Given the description of an element on the screen output the (x, y) to click on. 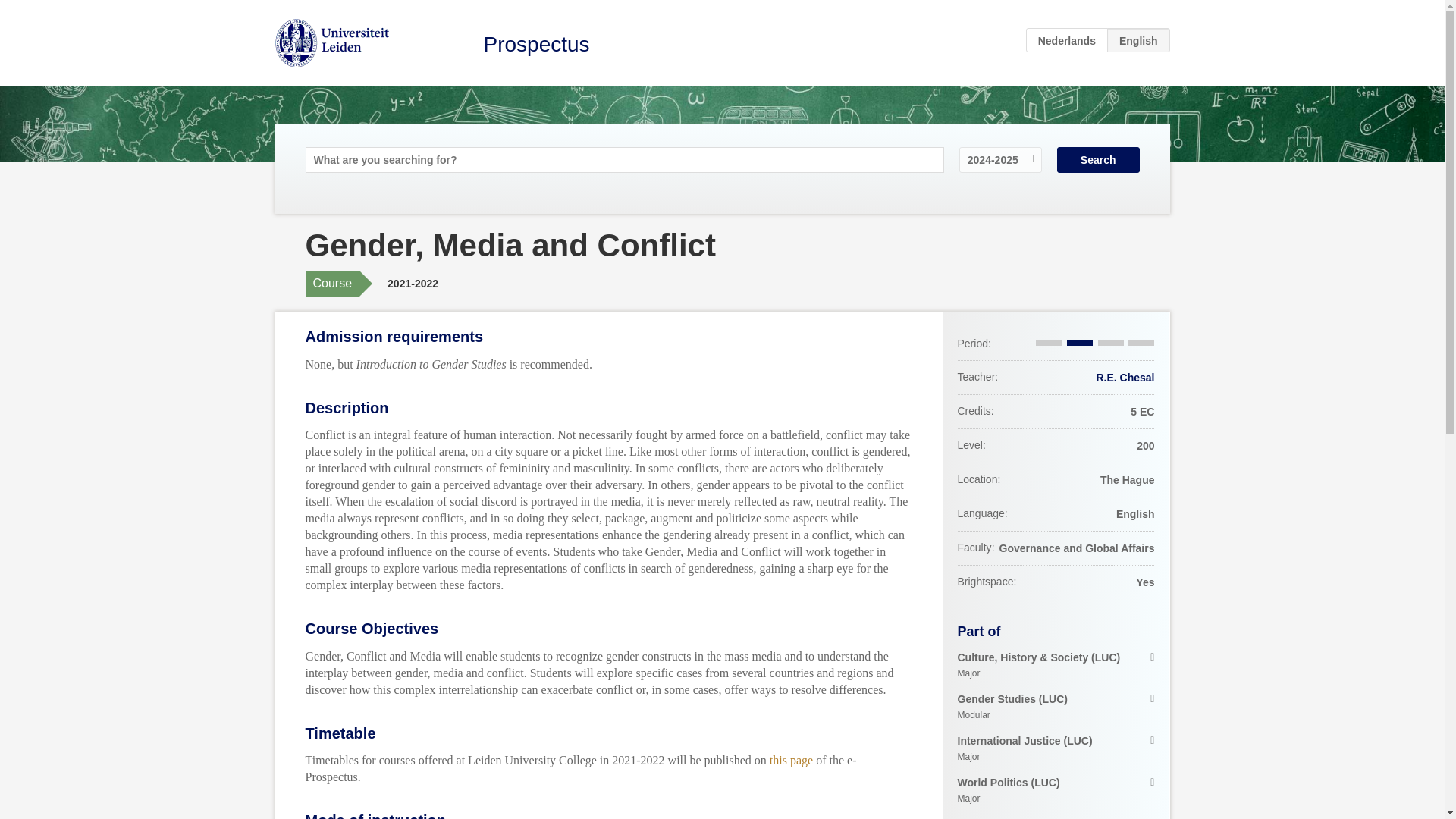
NL (1067, 39)
Search (1098, 159)
Prospectus (536, 44)
this page (791, 759)
R.E. Chesal (1125, 377)
